Given the description of an element on the screen output the (x, y) to click on. 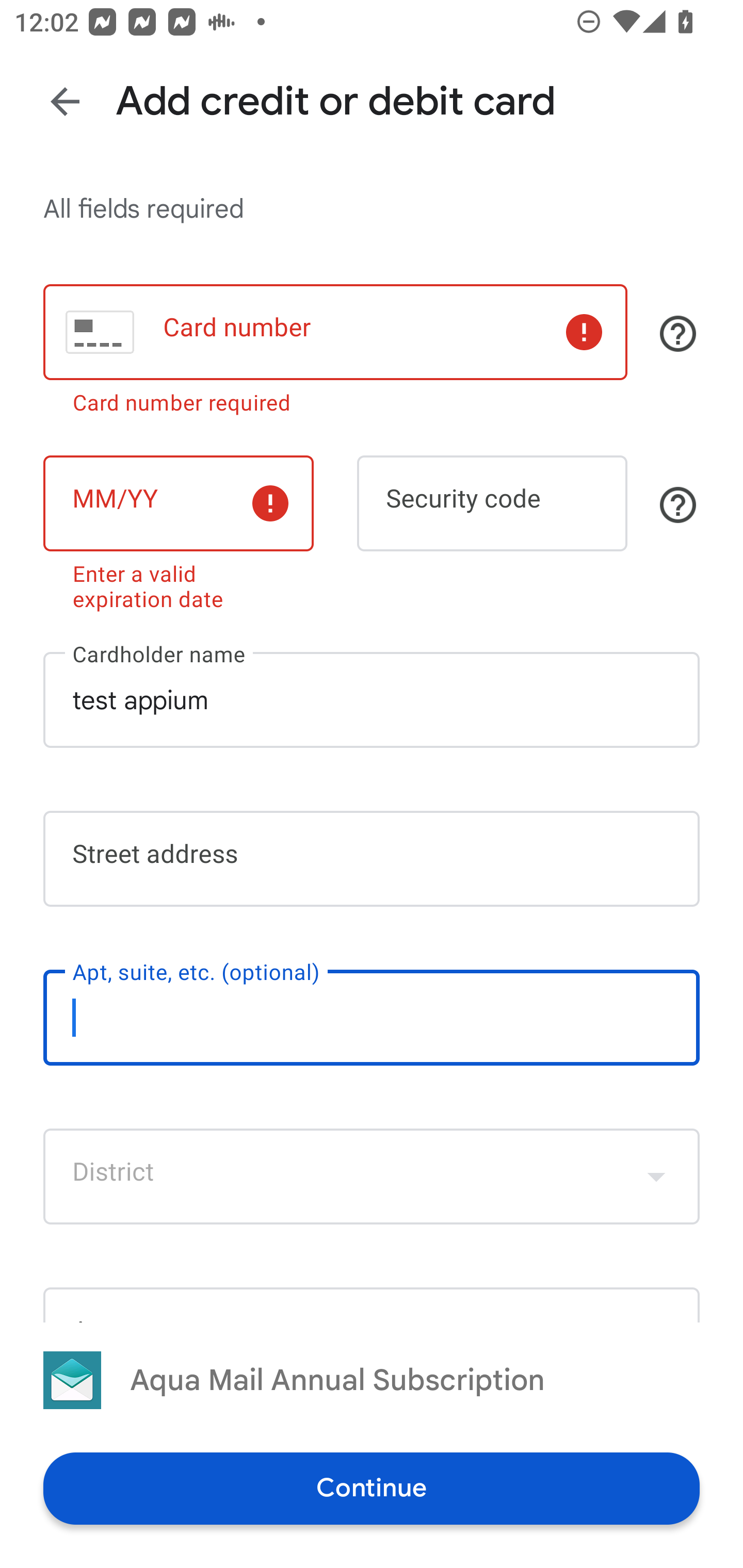
Back (64, 101)
Card number (335, 331)
Button, shows cards that are accepted for payment (677, 333)
Expiration date, 2 digit month, 2 digit year (178, 502)
Security code (492, 502)
Security code help (677, 504)
test appium (371, 699)
Street address (371, 858)
Apt, suite, etc. (optional) (371, 1017)
District (371, 1176)
Show dropdown menu (655, 1176)
Continue (371, 1487)
